Given the description of an element on the screen output the (x, y) to click on. 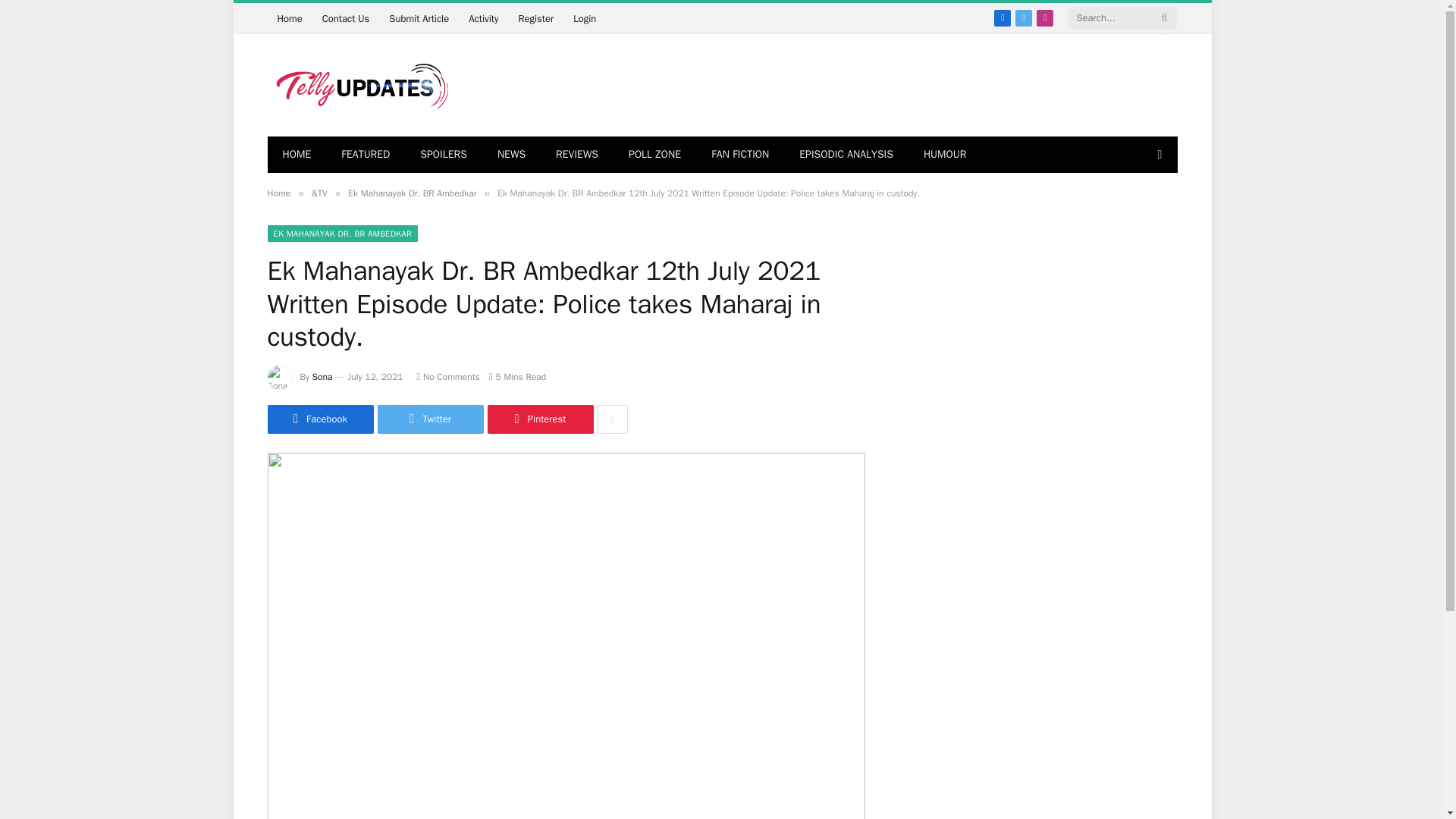
Telly Updates (357, 85)
REVIEWS (576, 154)
Activity (483, 18)
Go To Homepage (288, 18)
SPOILERS (442, 154)
Share on Facebook (319, 419)
Register (535, 18)
Facebook (1002, 17)
Switch to Dark Design - easier on eyes. (1158, 154)
Submit Article (418, 18)
POLL ZONE (653, 154)
Home (277, 193)
Login (584, 18)
Contact Us (346, 18)
FAN FICTION (739, 154)
